Given the description of an element on the screen output the (x, y) to click on. 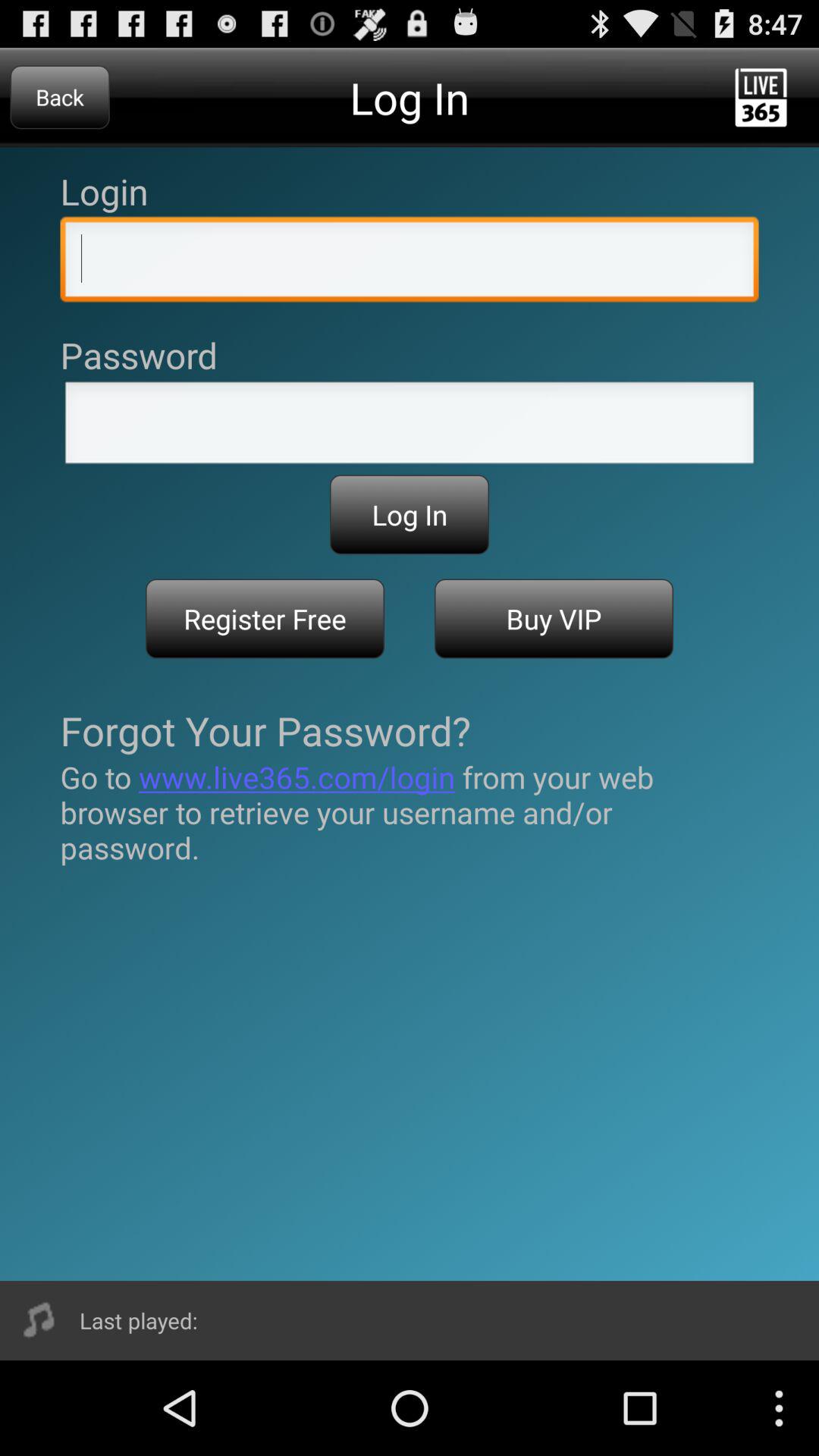
enter your password (409, 426)
